Given the description of an element on the screen output the (x, y) to click on. 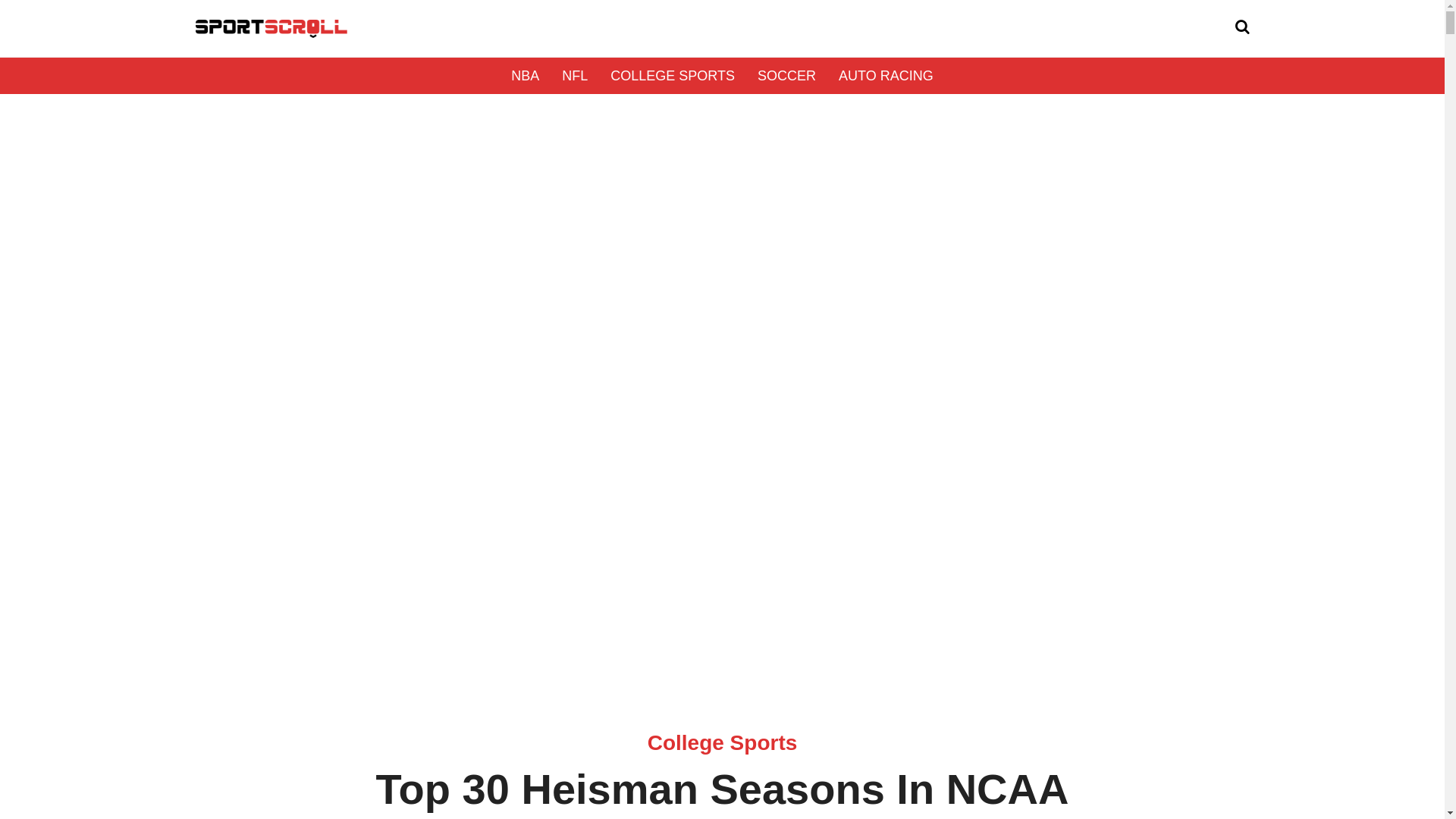
SOCCER (786, 75)
NFL (574, 75)
College Sports (722, 742)
COLLEGE SPORTS (672, 75)
NBA (525, 75)
AUTO RACING (885, 75)
